Given the description of an element on the screen output the (x, y) to click on. 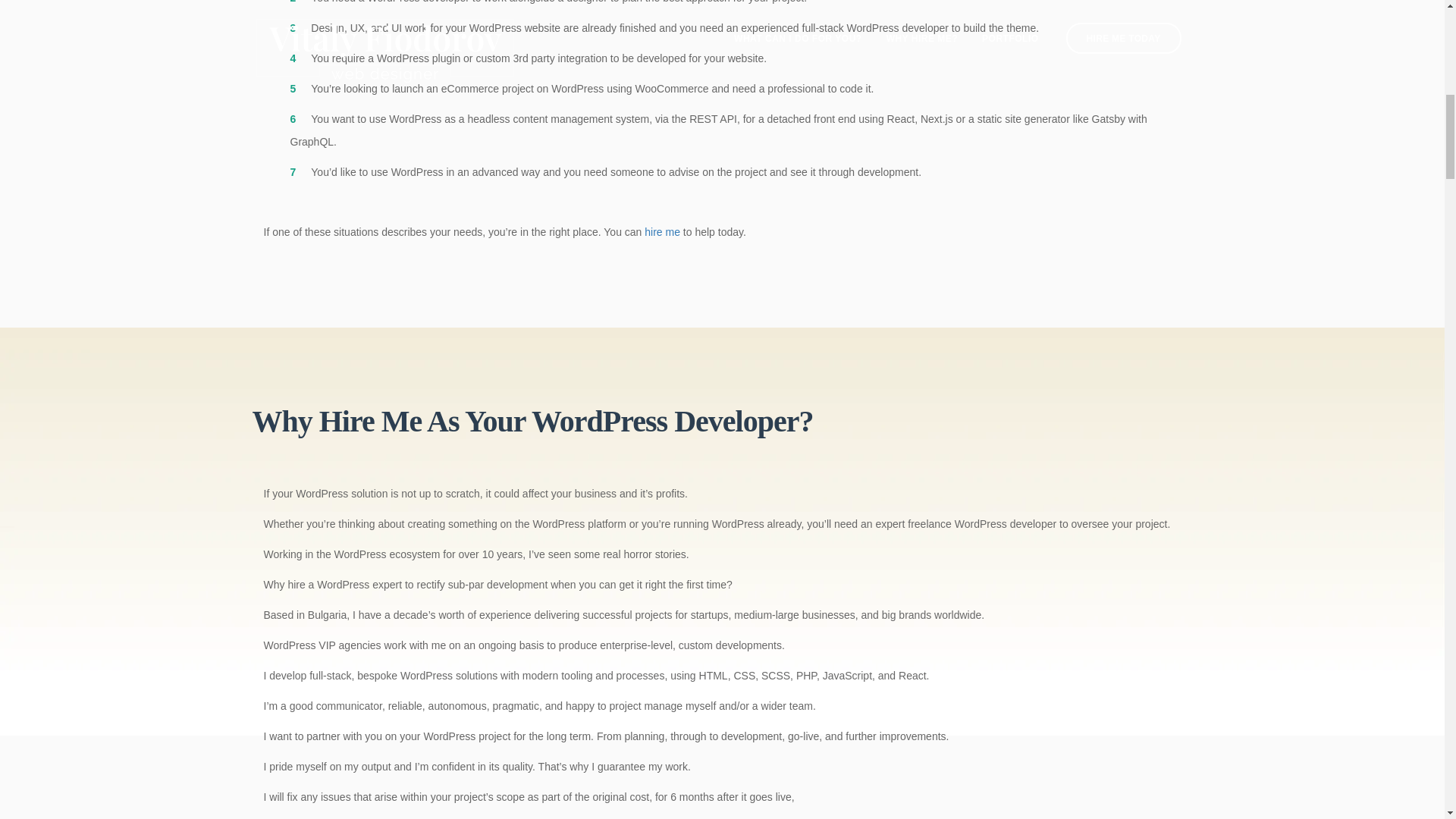
hire me (662, 232)
